Given the description of an element on the screen output the (x, y) to click on. 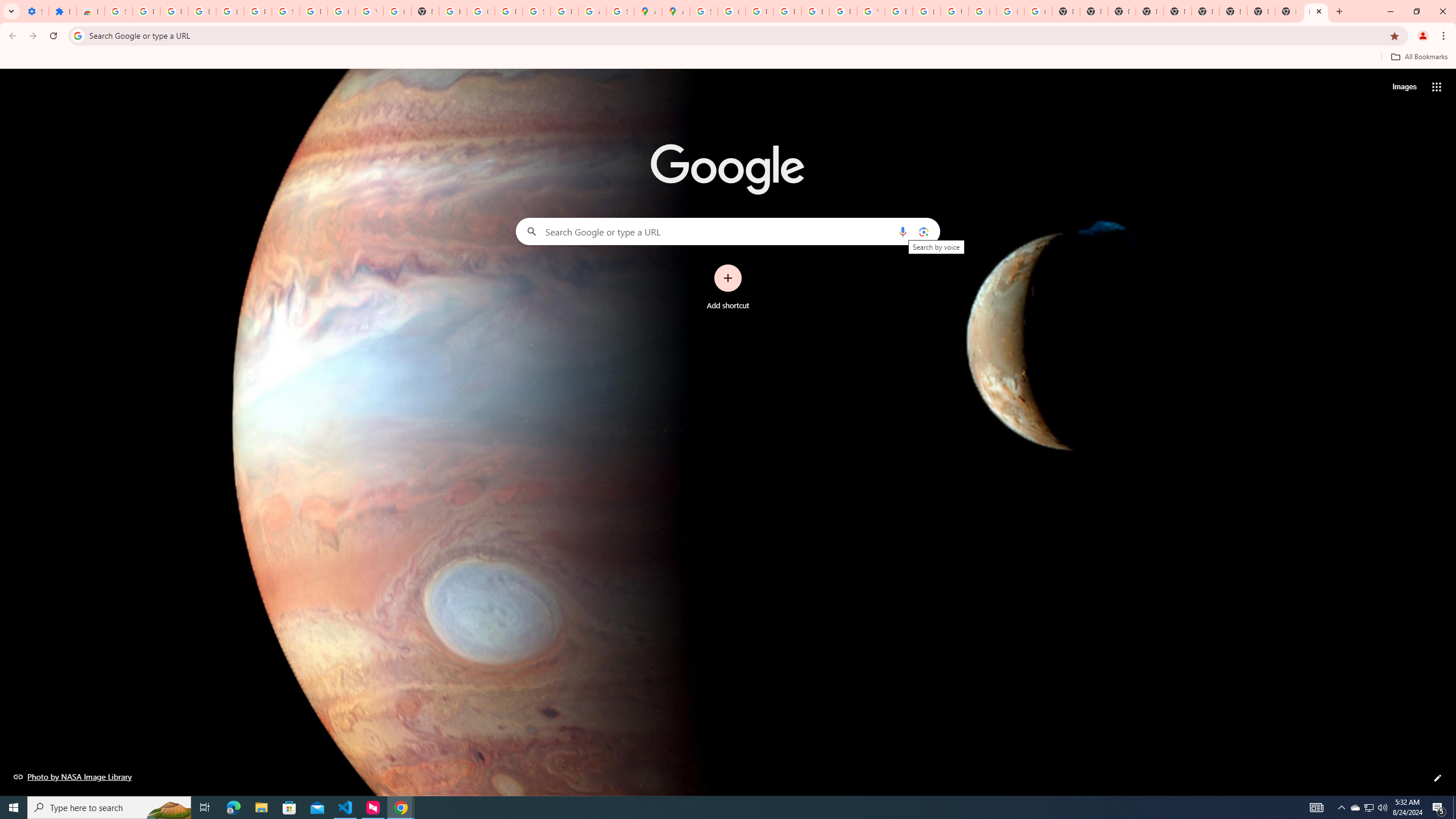
New Tab (1316, 11)
Privacy Help Center - Policies Help (787, 11)
New Tab (1150, 11)
Reviews: Helix Fruit Jump Arcade Game (90, 11)
https://scholar.google.com/ (452, 11)
Search Google or type a URL (727, 230)
Google Images (1038, 11)
